Given the description of an element on the screen output the (x, y) to click on. 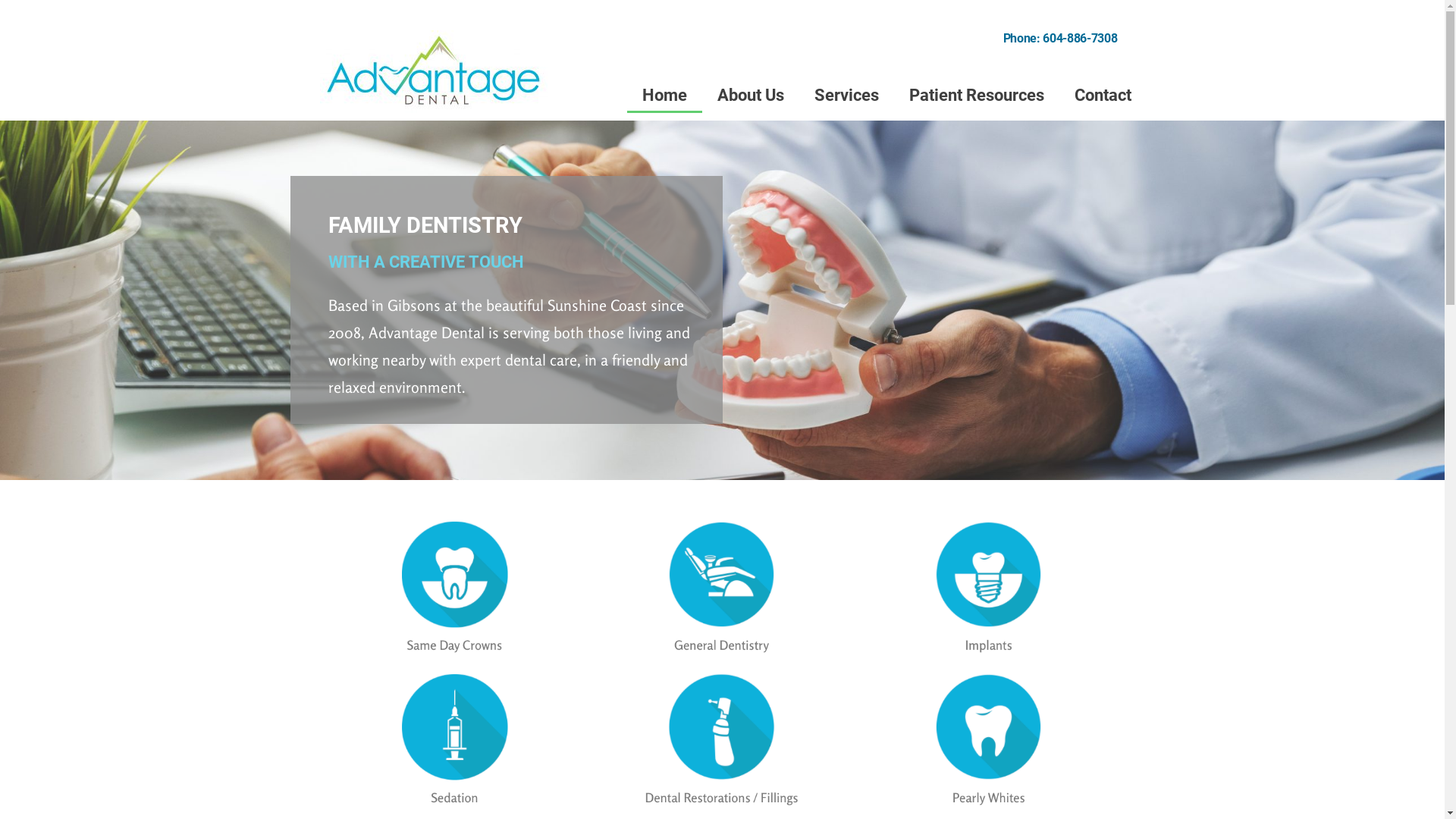
Patient Resources Element type: text (976, 95)
Contact Element type: text (1102, 95)
Home Element type: text (664, 95)
About Us Element type: text (750, 95)
Services Element type: text (846, 95)
